Given the description of an element on the screen output the (x, y) to click on. 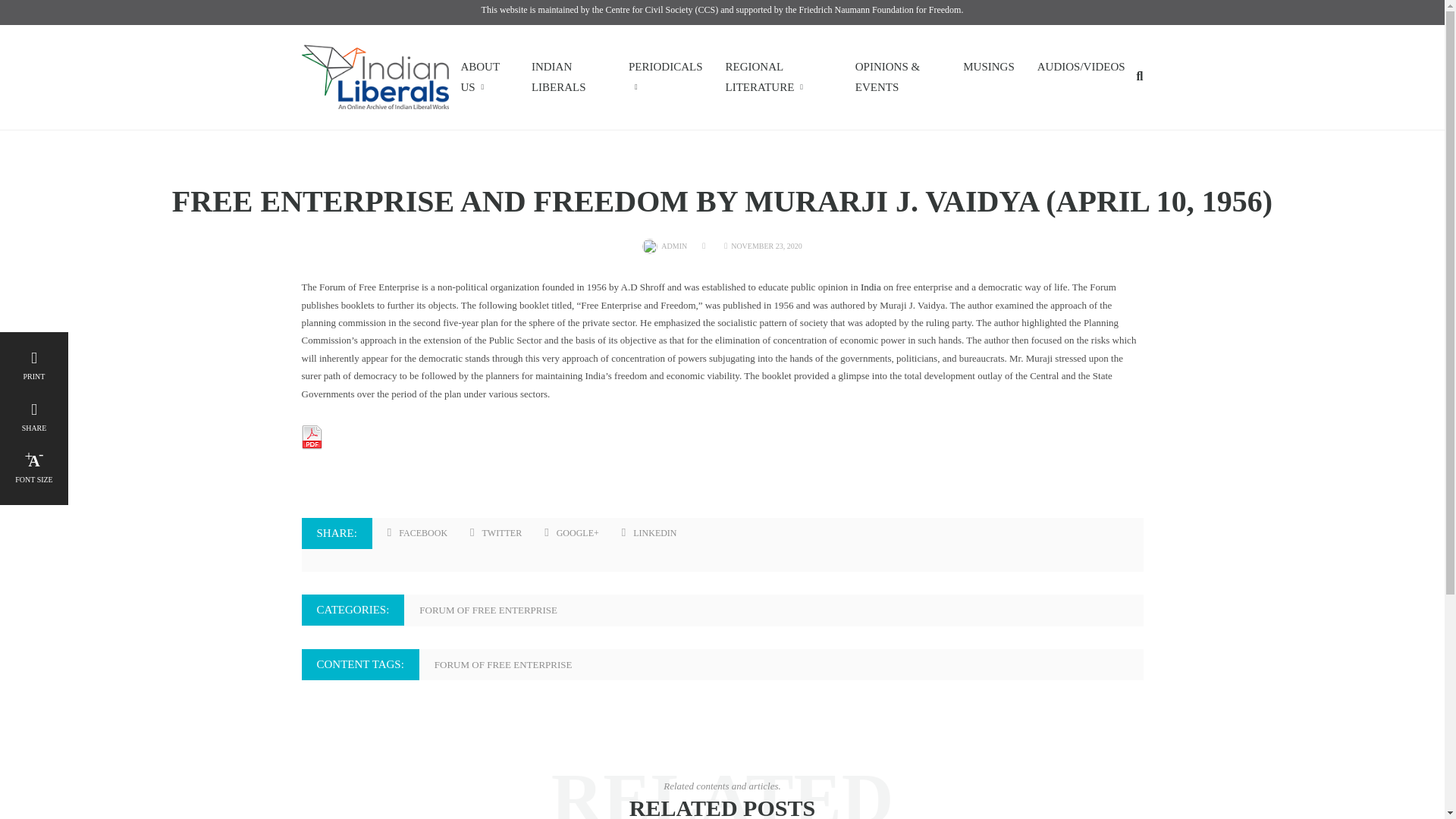
PERIODICALS (665, 77)
Indian Liberals (375, 75)
REGIONAL LITERATURE (778, 77)
INDIAN LIBERALS (568, 77)
Share toLinkedin (649, 533)
ABOUT US (483, 77)
MUSINGS (989, 67)
Share toFacebook (416, 533)
Share toTwitter (495, 533)
